Given the description of an element on the screen output the (x, y) to click on. 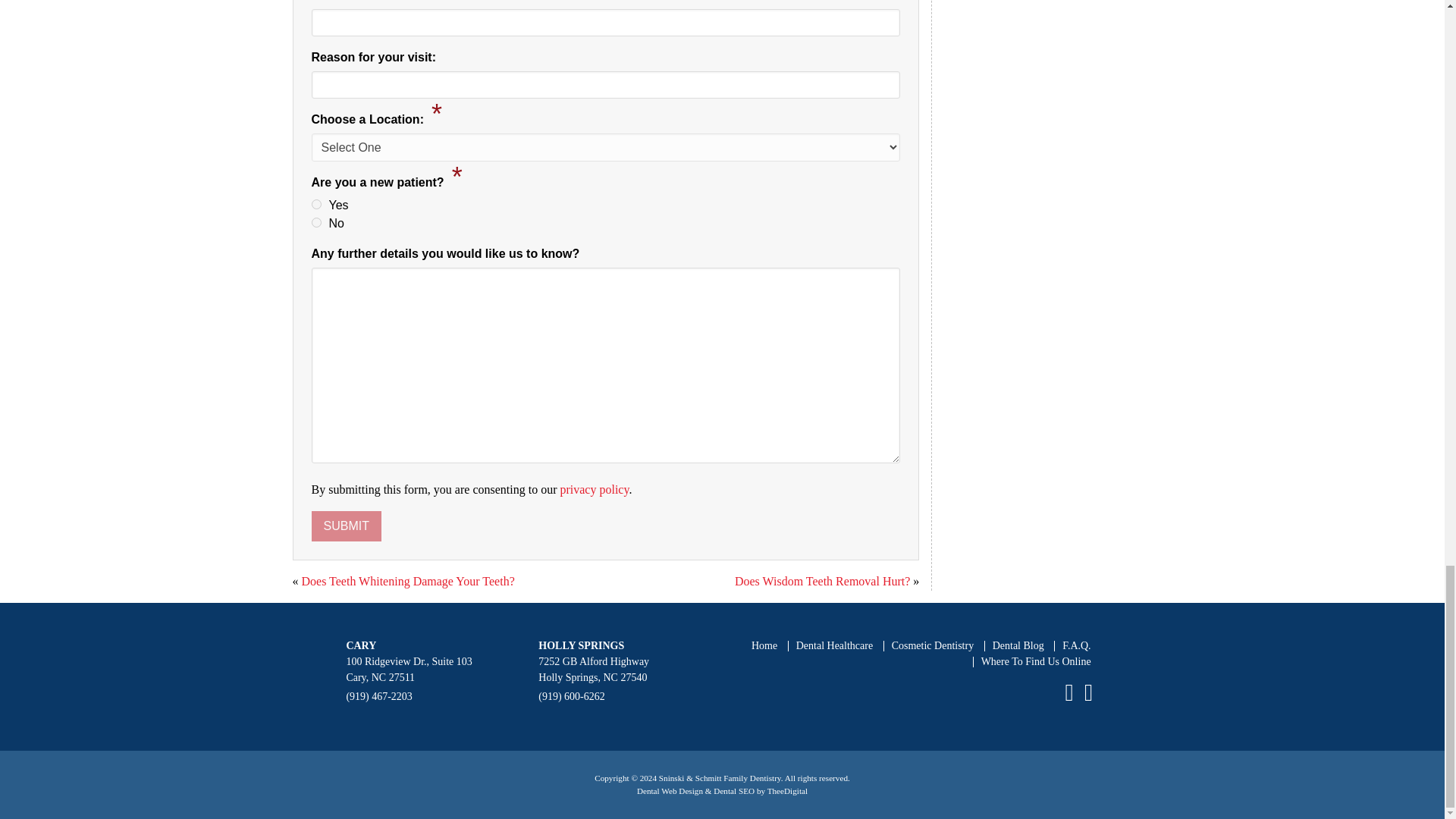
Raleigh Digital Marketing Agency (787, 790)
Does Wisdom Teeth Removal Hurt? (822, 581)
SEO for Dentists (733, 790)
privacy policy (593, 489)
Yes (315, 204)
Submit (345, 526)
Raleigh Dental Web Design (670, 790)
No (315, 222)
Does Teeth Whitening Damage Your Teeth? (408, 581)
Submit (345, 526)
